Given the description of an element on the screen output the (x, y) to click on. 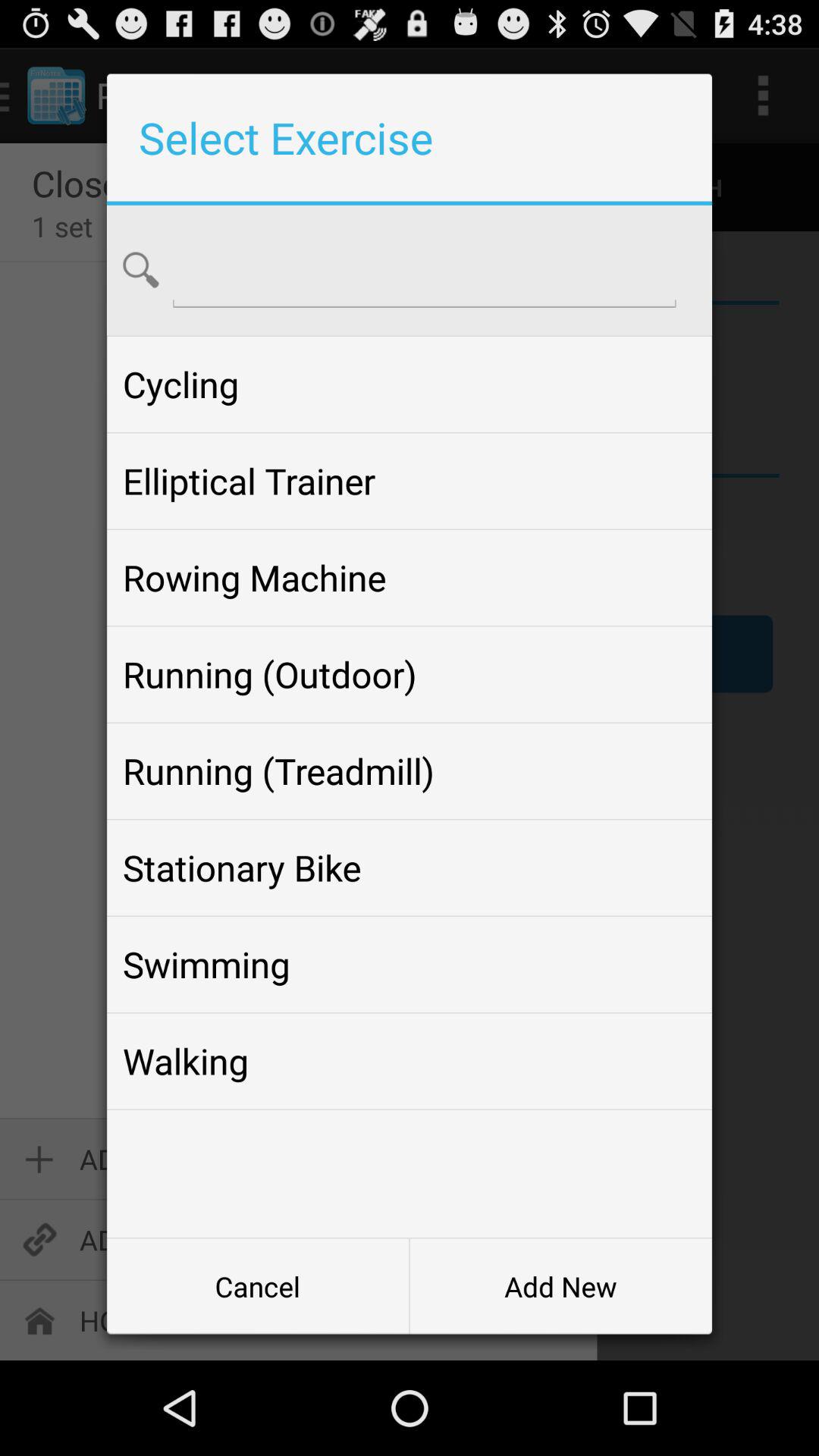
open the button at the bottom left corner (257, 1286)
